Given the description of an element on the screen output the (x, y) to click on. 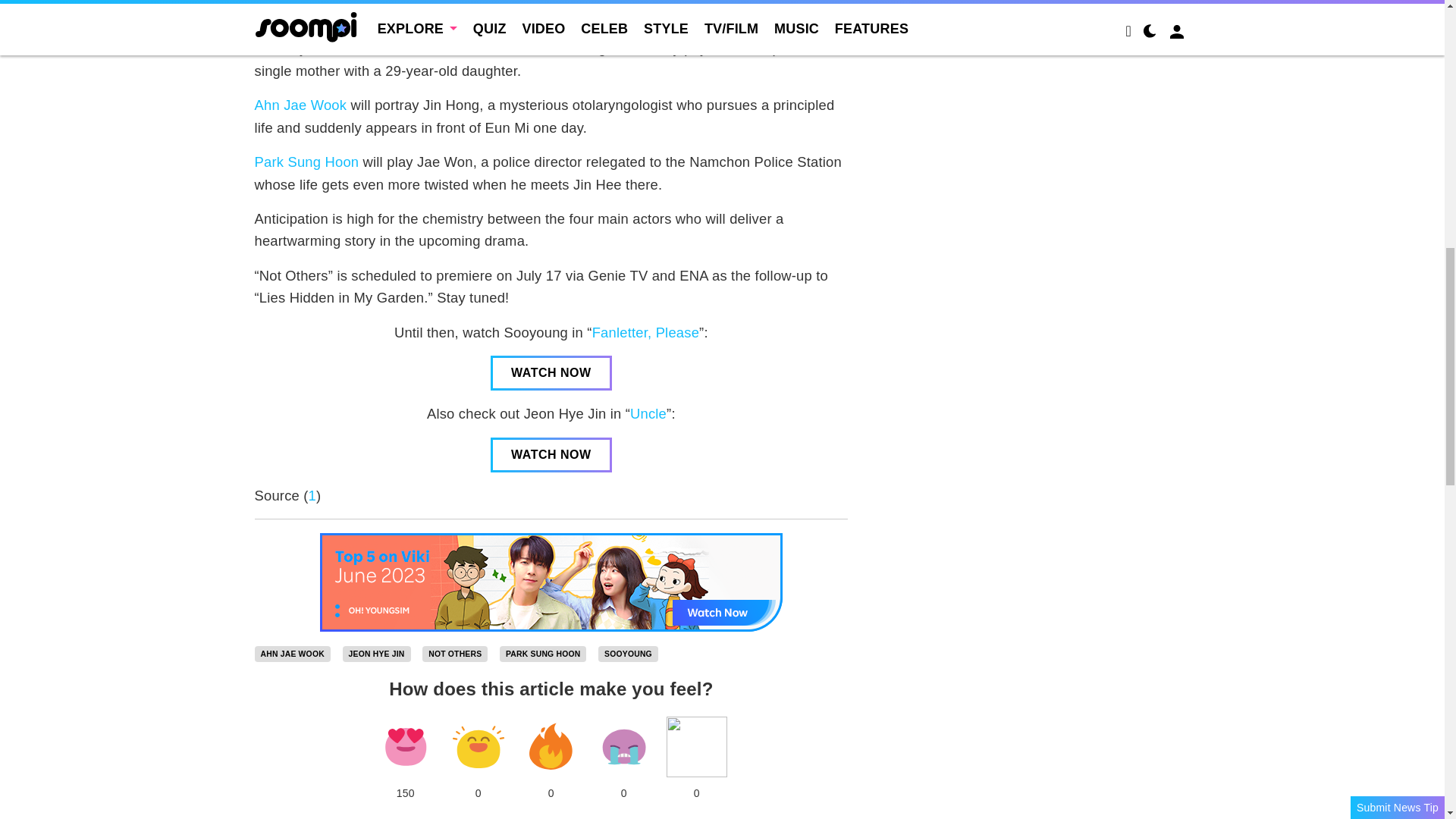
WATCH NOW (550, 372)
Ahn Jae Wook (300, 105)
Jeon Hye Jin (376, 654)
OMG (696, 746)
Park Sung Hoon (306, 161)
Uncle (648, 413)
Sooyoung (628, 654)
3rd party ad content (1040, 9)
Fanletter, Please (645, 332)
Crying (623, 746)
